Given the description of an element on the screen output the (x, y) to click on. 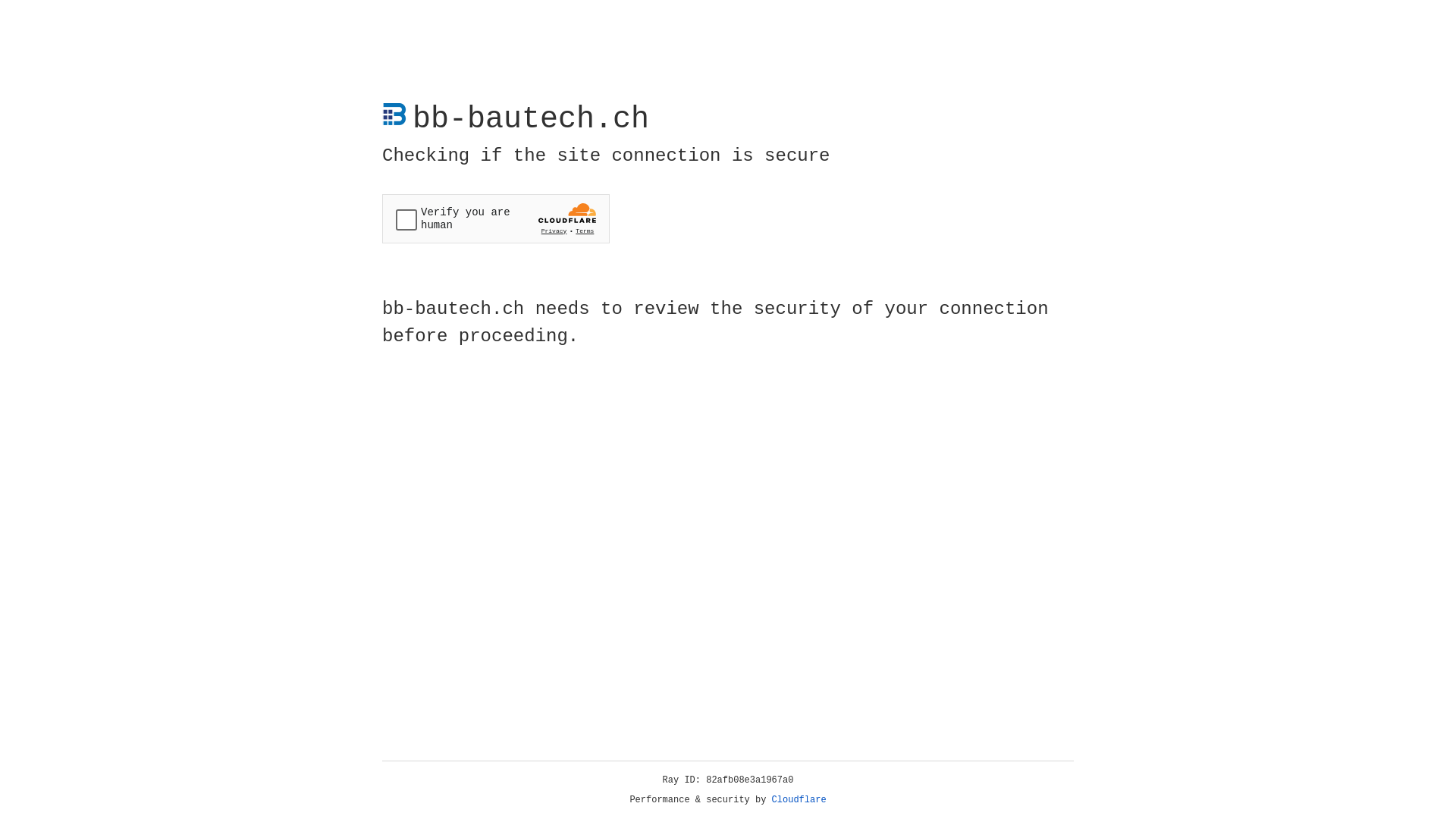
Widget containing a Cloudflare security challenge Element type: hover (495, 218)
Cloudflare Element type: text (798, 799)
